Given the description of an element on the screen output the (x, y) to click on. 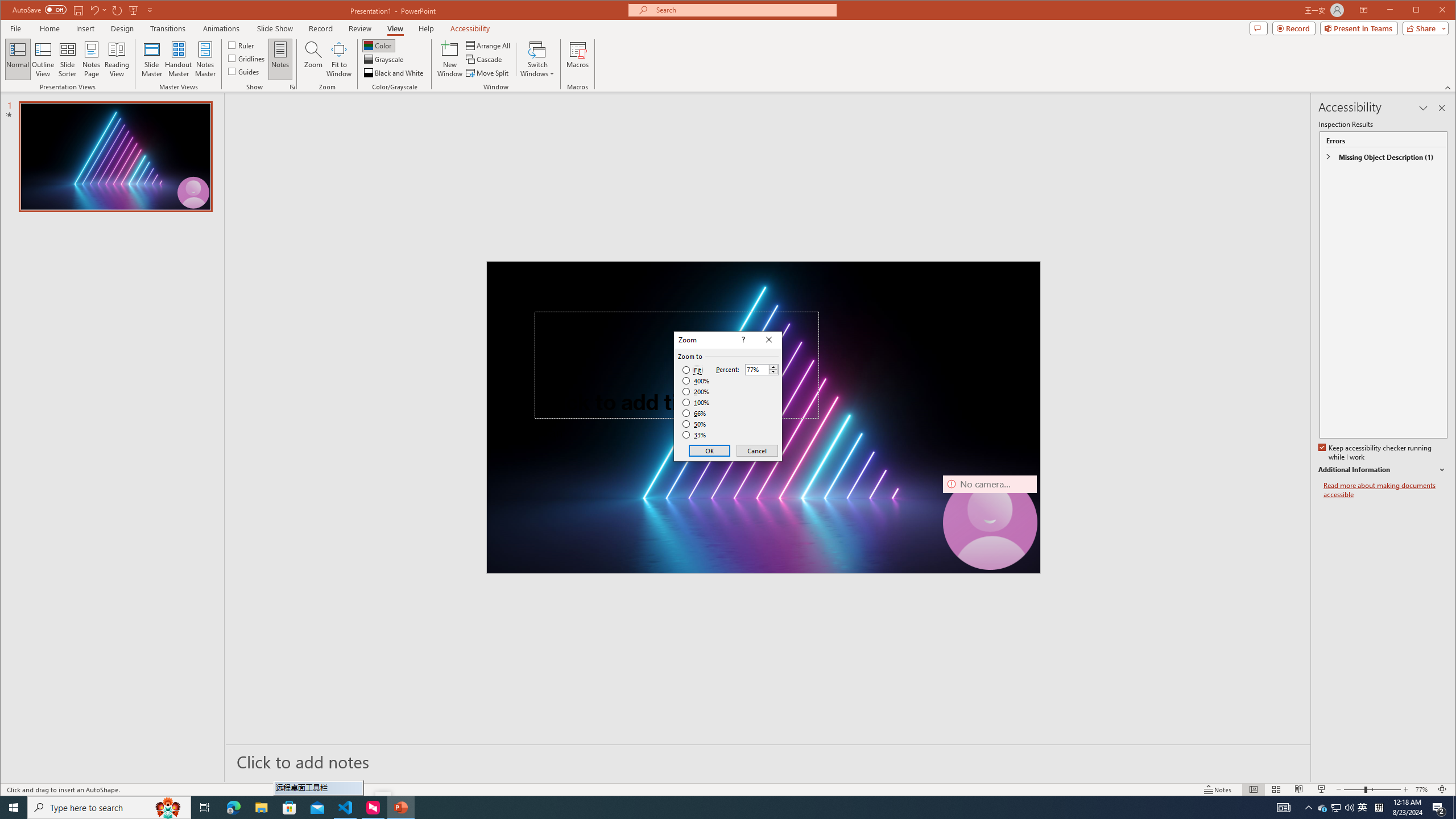
Outline View (42, 59)
Notes Page (1322, 807)
Keep accessibility checker running while I work (91, 59)
